Given the description of an element on the screen output the (x, y) to click on. 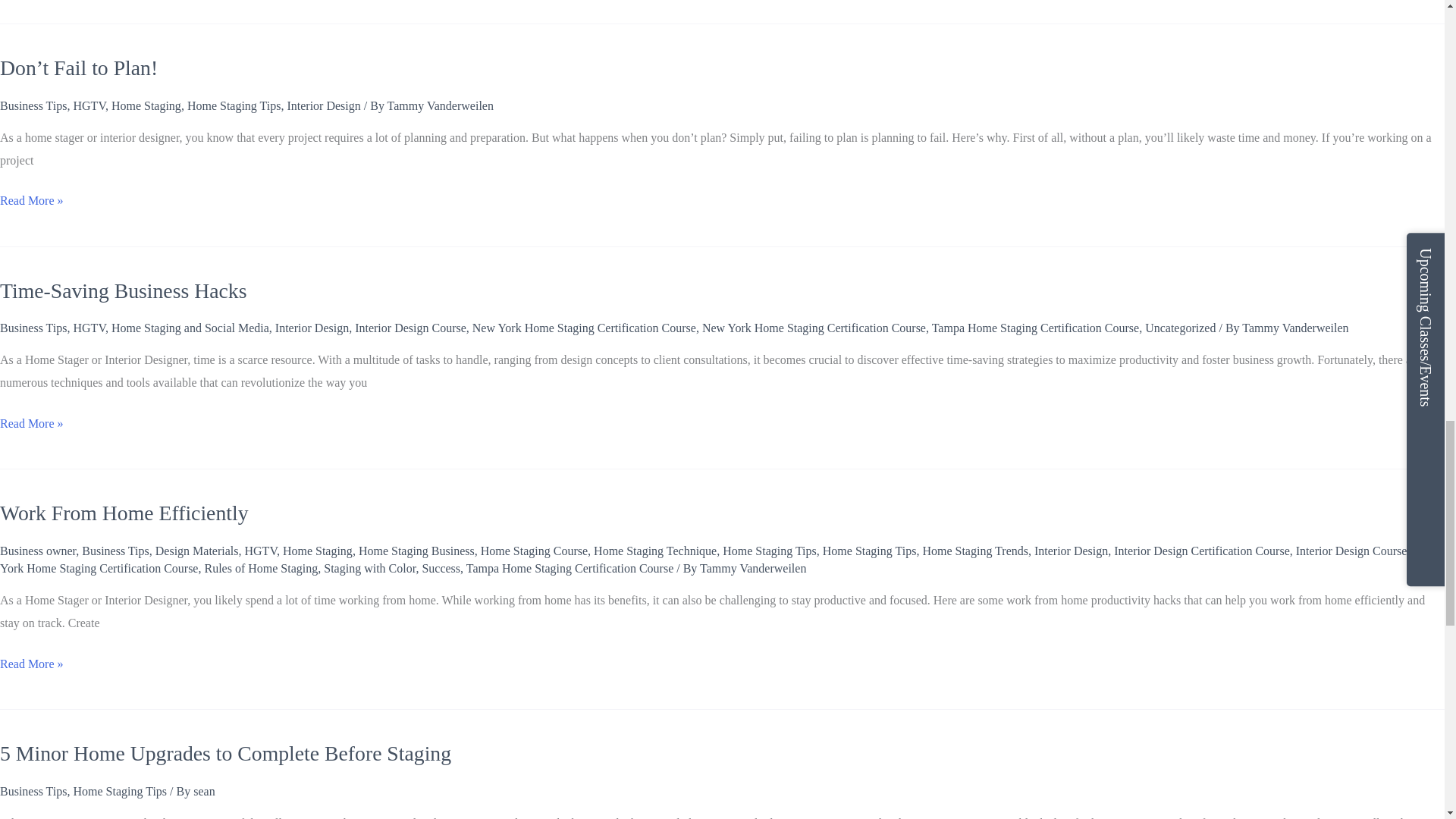
View all posts by Tammy Vanderweilen (440, 105)
View all posts by Tammy Vanderweilen (1294, 327)
View all posts by Tammy Vanderweilen (753, 567)
View all posts by sean (203, 790)
